Given the description of an element on the screen output the (x, y) to click on. 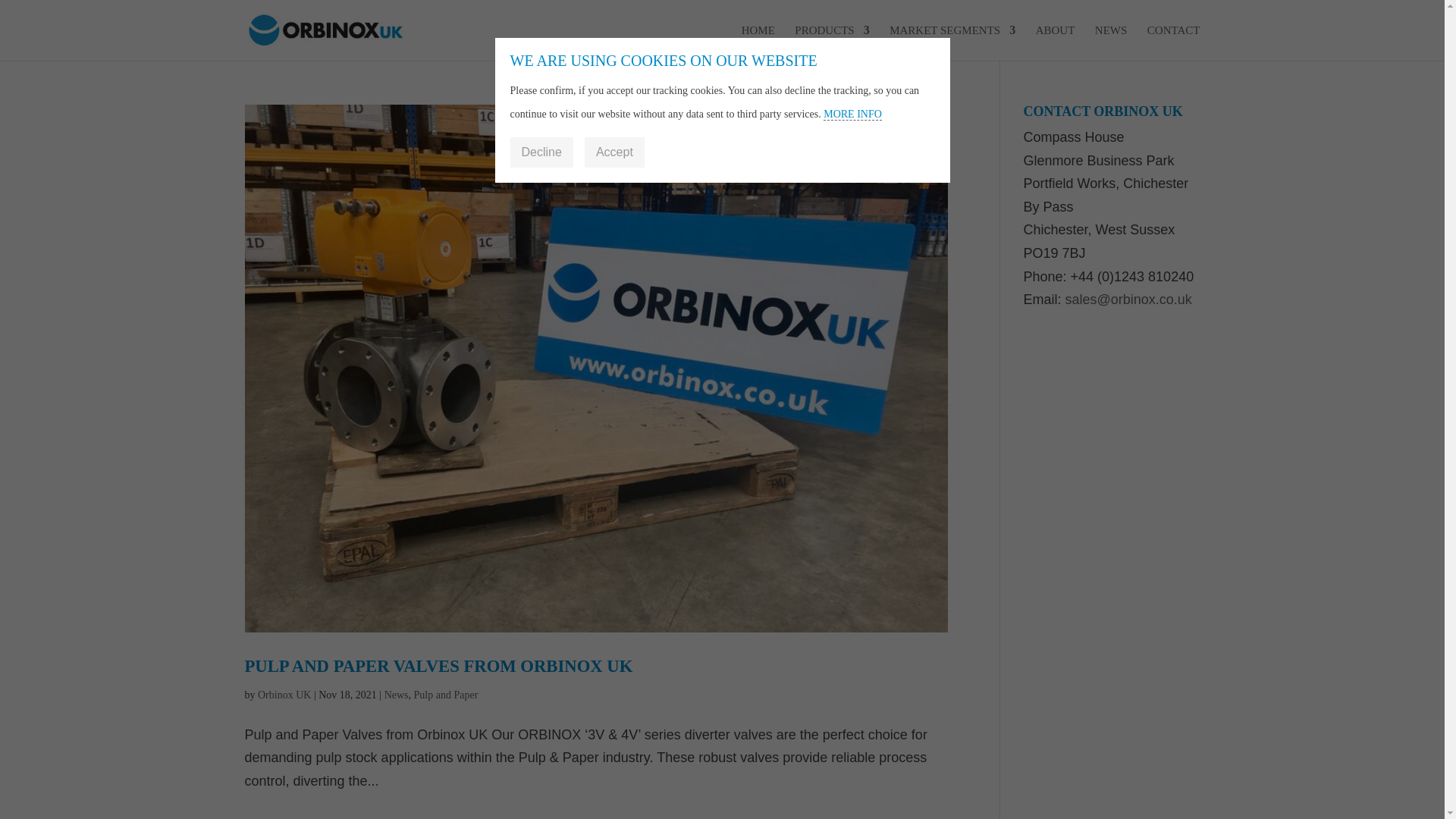
PRODUCTS (831, 42)
NEWS (1110, 42)
Posts by Orbinox UK (284, 695)
CONTACT (1173, 42)
ABOUT (1055, 42)
HOME (757, 42)
MARKET SEGMENTS (951, 42)
